Given the description of an element on the screen output the (x, y) to click on. 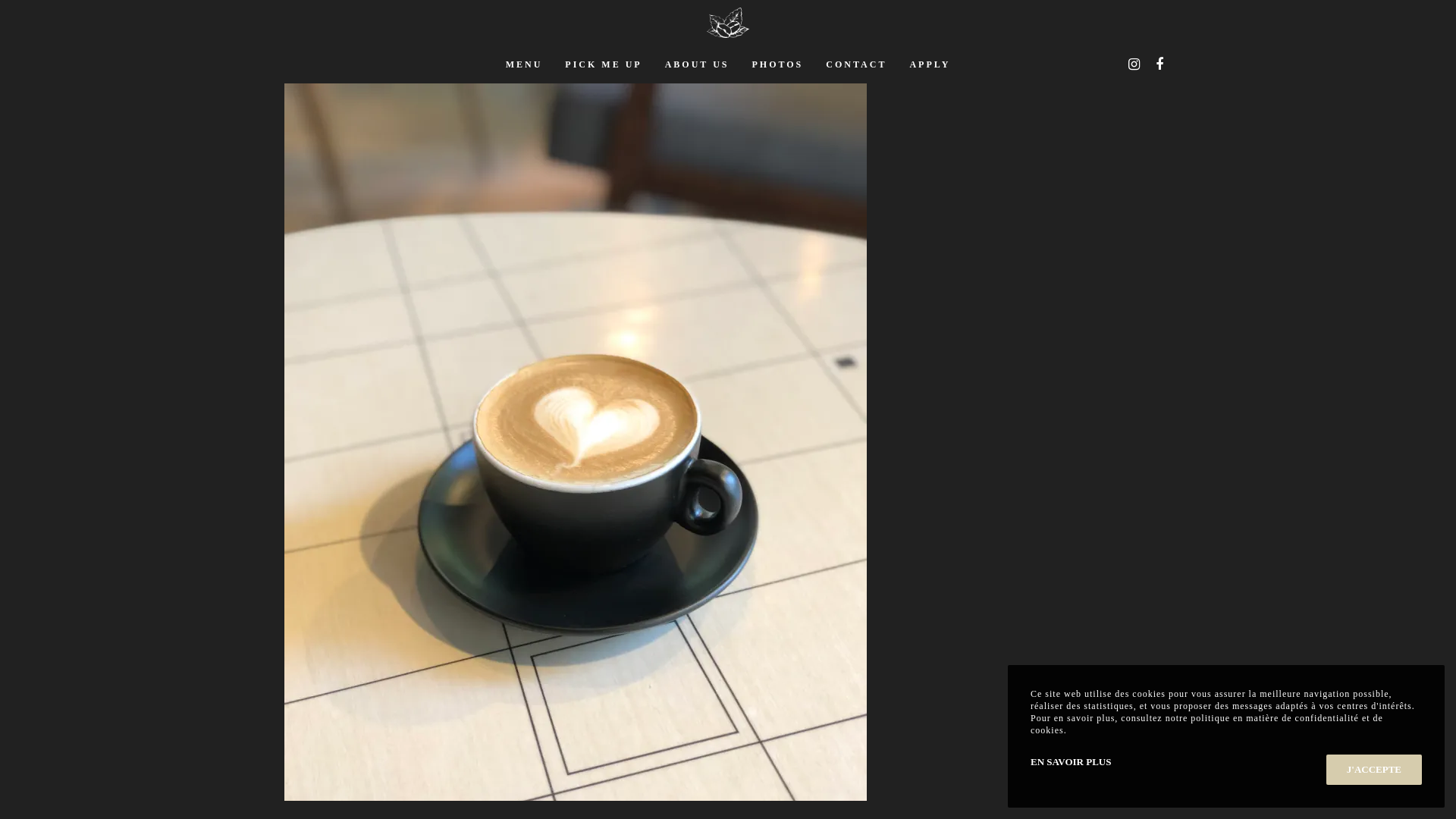
CONTACT Element type: text (855, 64)
PICK ME UP Element type: text (602, 64)
APPLY Element type: text (929, 64)
ABOUT US Element type: text (696, 64)
J'ACCEPTE Element type: text (1373, 769)
PHOTOS Element type: text (777, 64)
MENU Element type: text (524, 64)
EN SAVOIR PLUS Element type: text (1070, 761)
